Given the description of an element on the screen output the (x, y) to click on. 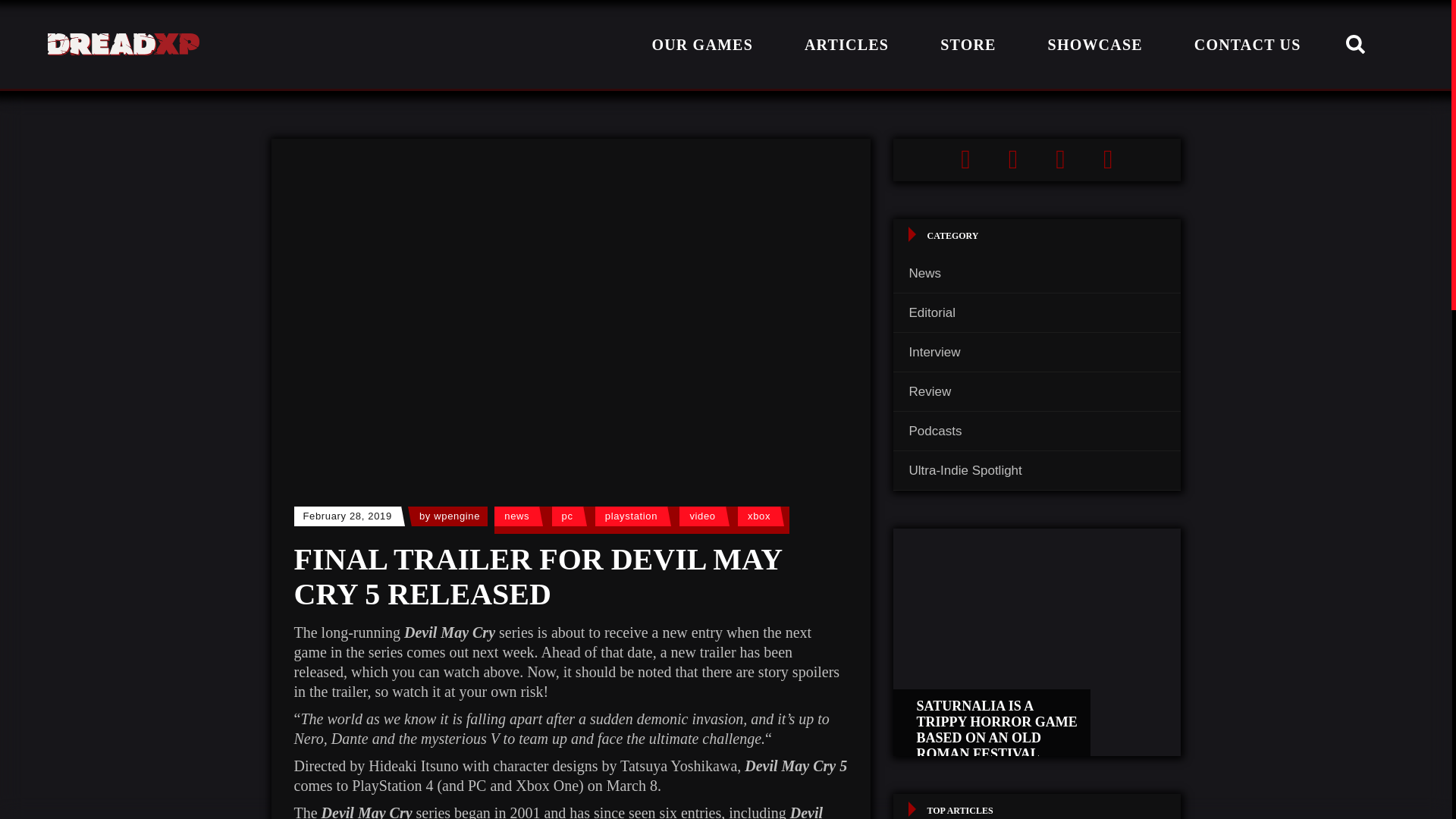
Shift-click to edit this widget. (1036, 159)
ARTICLES (846, 44)
SHOWCASE (1095, 44)
CONTACT US (1247, 44)
STORE (967, 44)
OUR GAMES (702, 44)
